Given the description of an element on the screen output the (x, y) to click on. 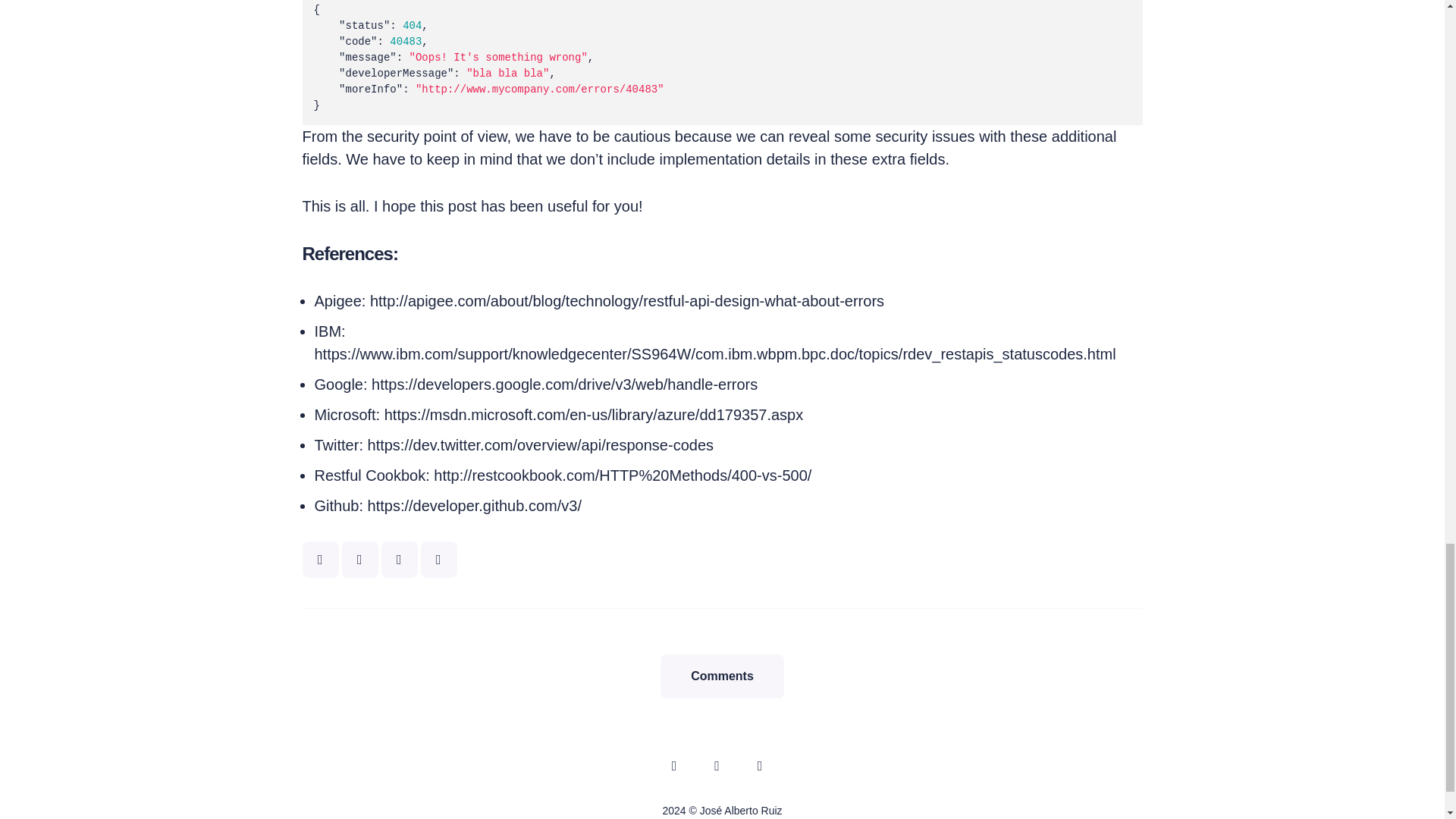
Share on Twitter (319, 559)
Share on Facebook (358, 559)
Share on Pinterest (398, 559)
Share on LinkedIn (438, 559)
Comments (722, 676)
